Given the description of an element on the screen output the (x, y) to click on. 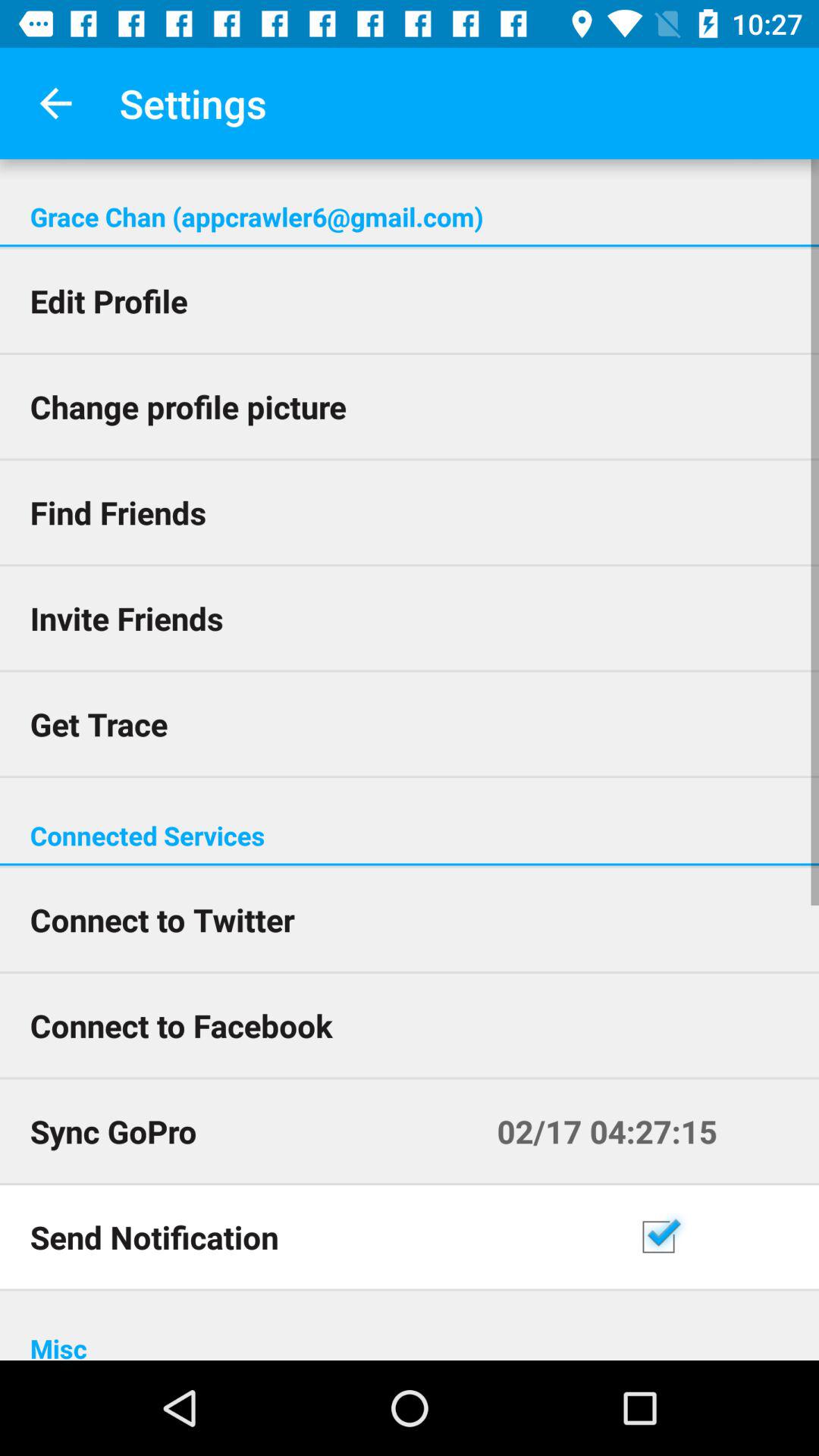
press the item next to sync gopro item (642, 1130)
